Given the description of an element on the screen output the (x, y) to click on. 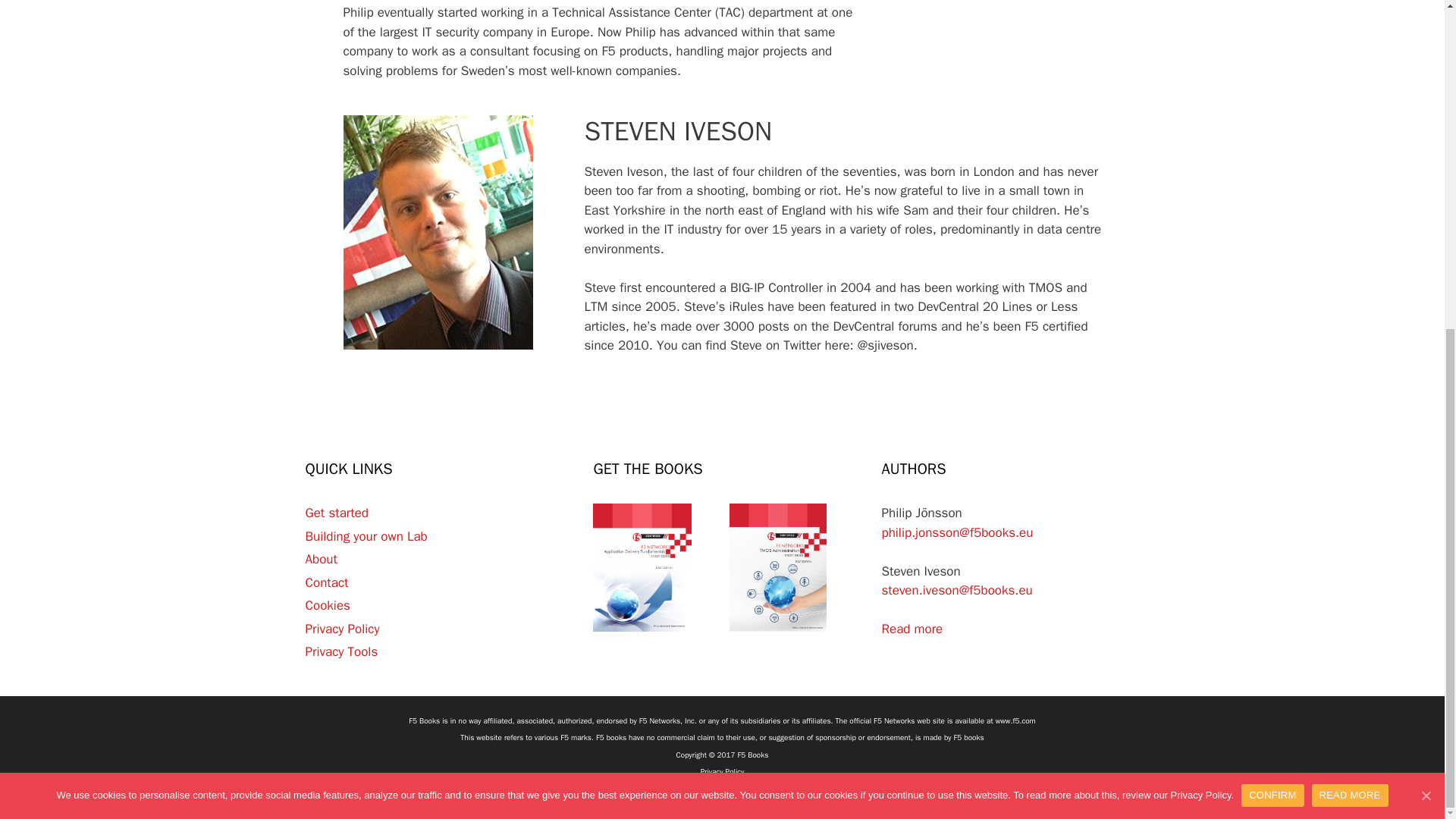
Website created by SAGAIO (722, 788)
Privacy Policy (722, 771)
About (320, 559)
www.f5.com (1015, 720)
Privacy Tools (340, 651)
Privacy Policy (341, 628)
Contact (325, 582)
Cookies (326, 605)
CONFIRM (1272, 250)
Building your own Lab (365, 536)
